Given the description of an element on the screen output the (x, y) to click on. 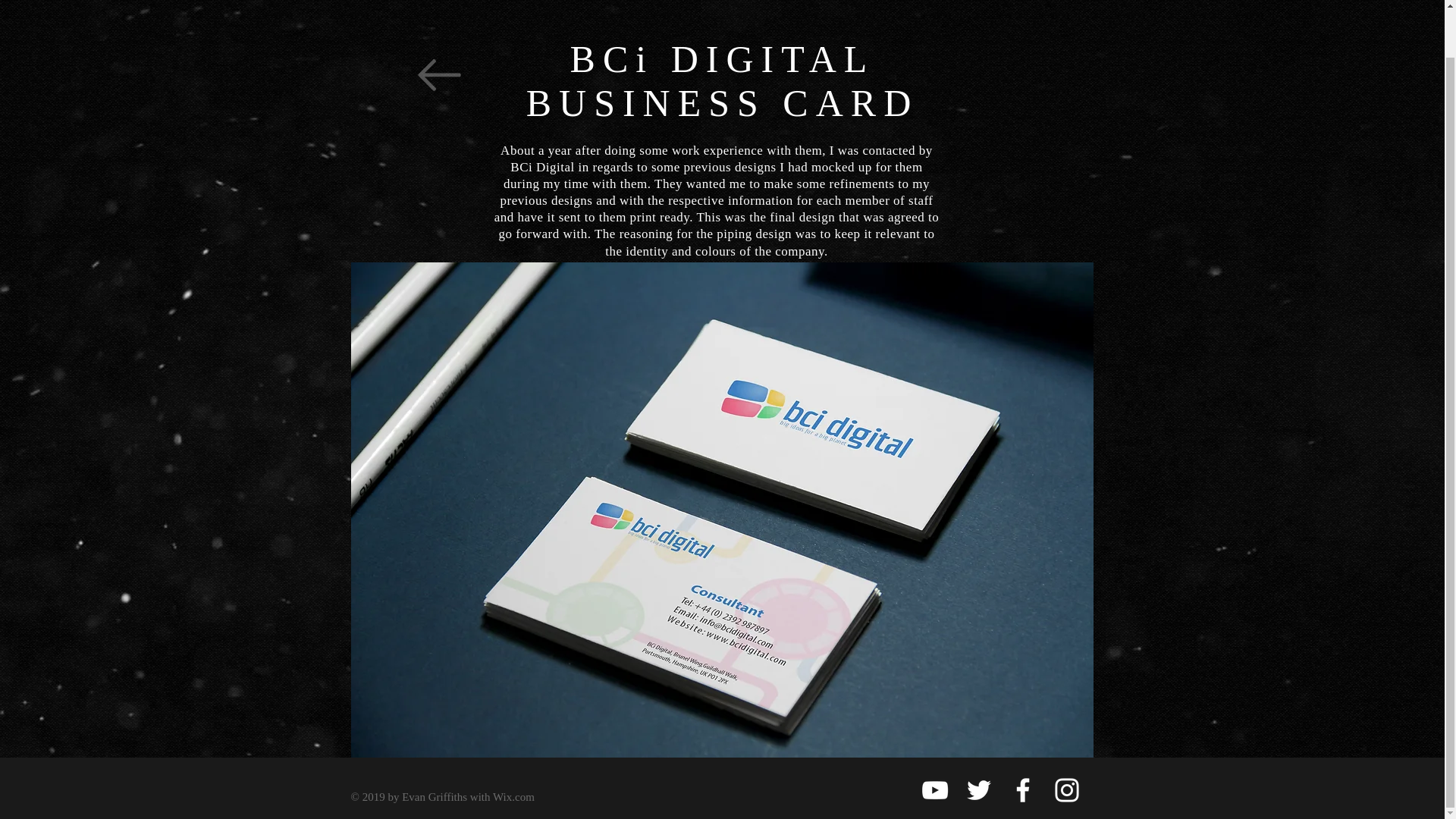
Wix.com (513, 797)
